Given the description of an element on the screen output the (x, y) to click on. 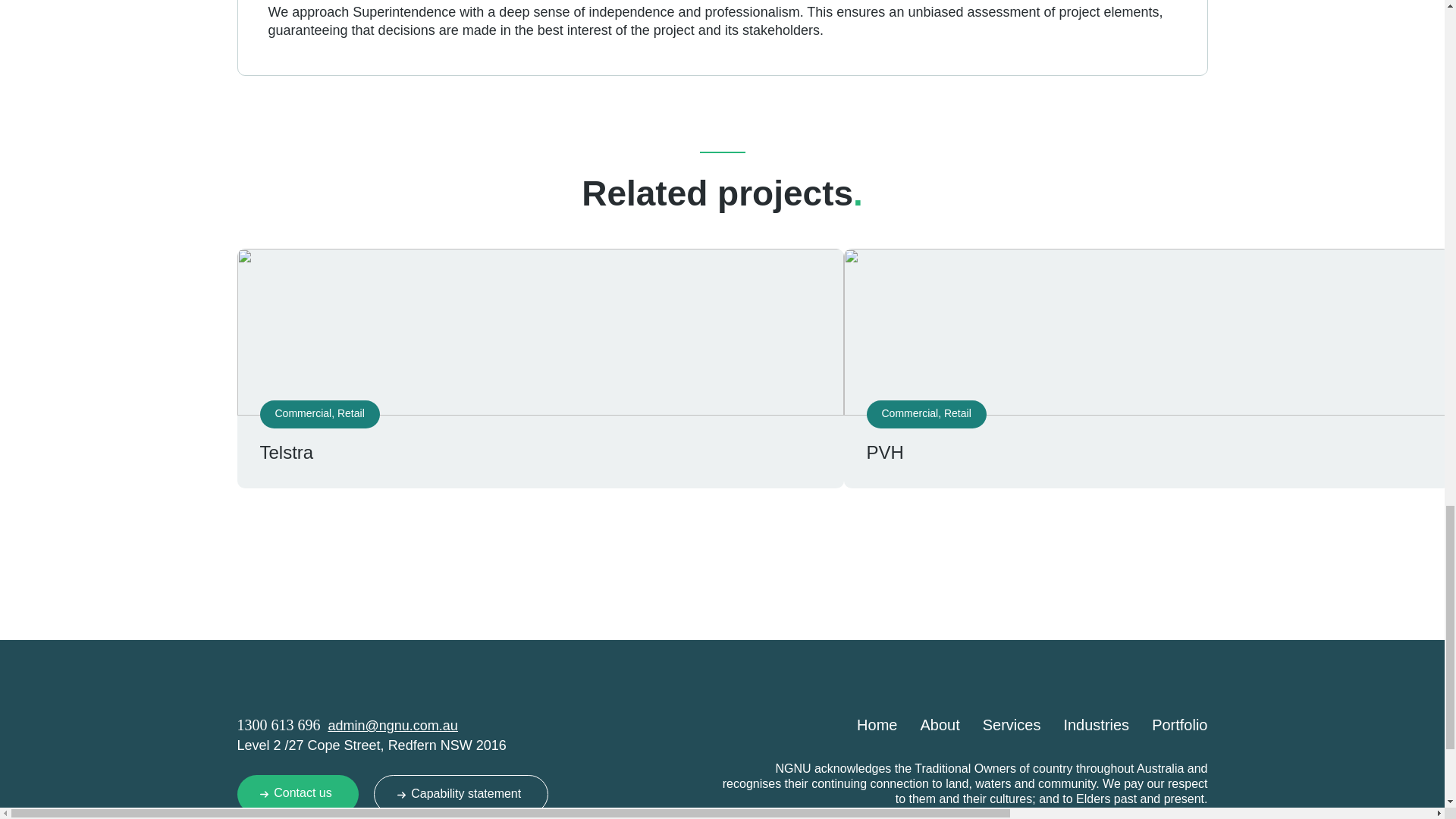
Commercial (908, 413)
Commercial (303, 413)
Retail (351, 413)
Telstra (286, 452)
